Given the description of an element on the screen output the (x, y) to click on. 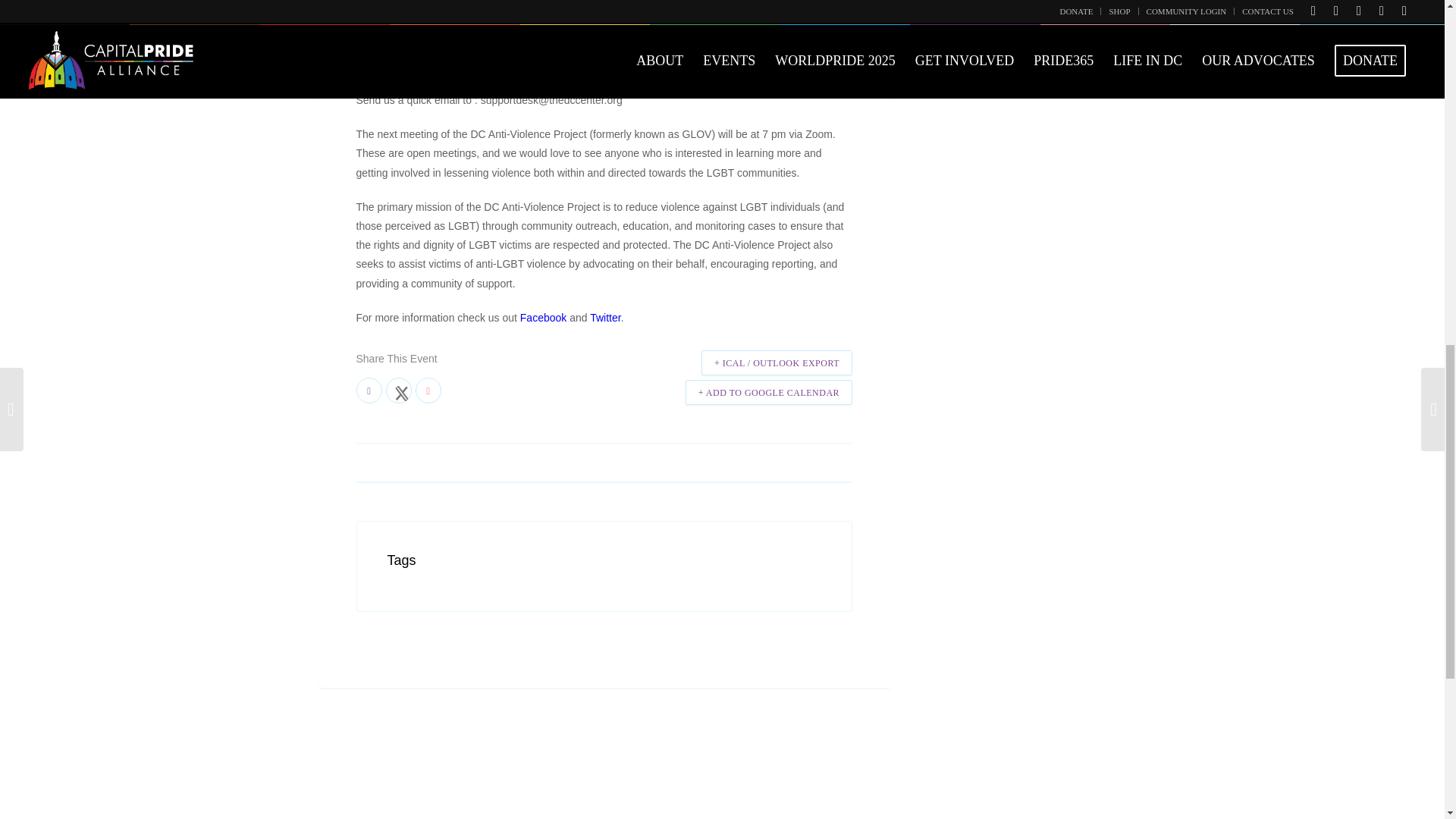
Email (427, 390)
Share on Facebook (368, 390)
X Social Network (397, 390)
